Given the description of an element on the screen output the (x, y) to click on. 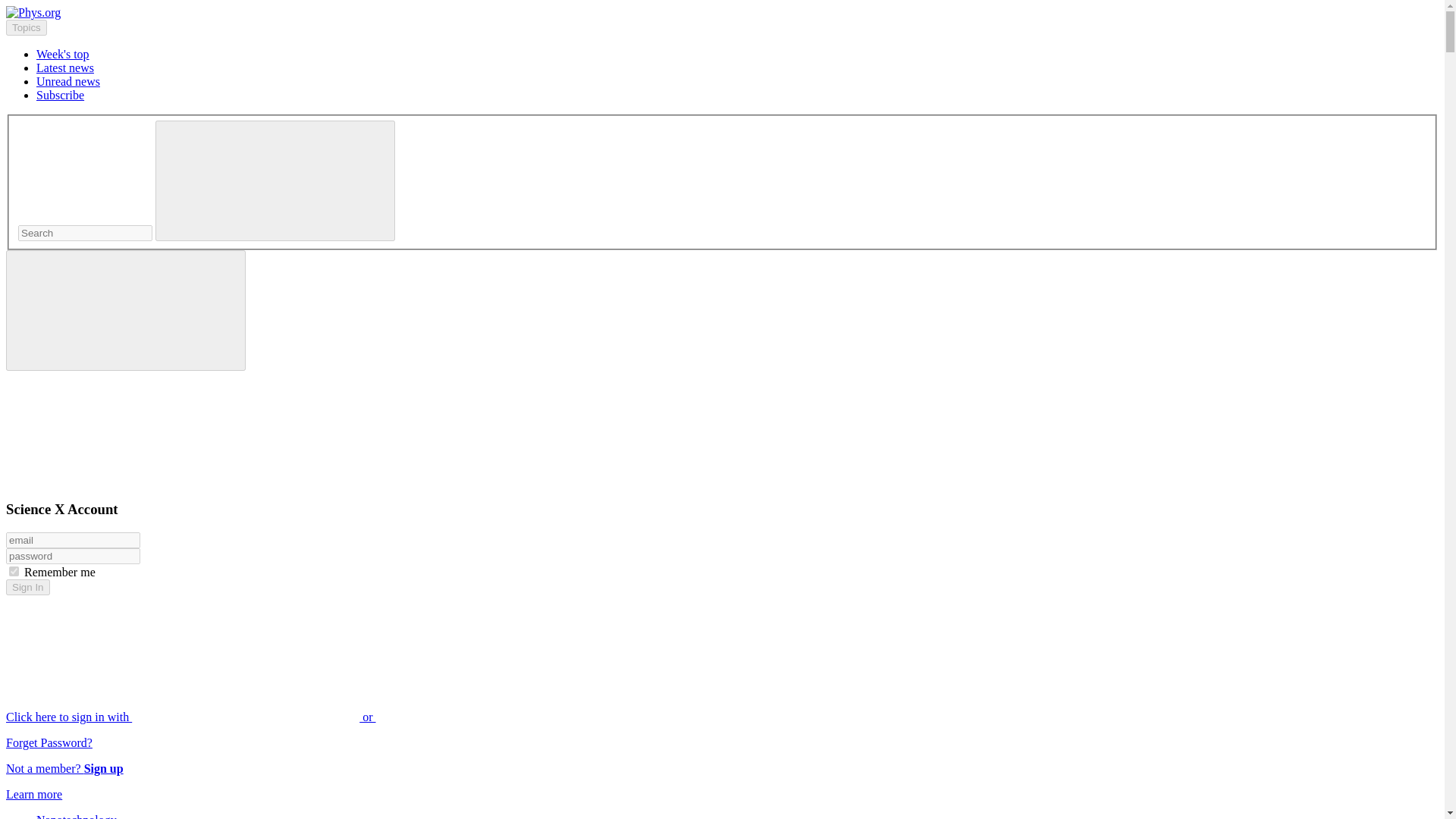
Sign In (27, 587)
Latest news (65, 67)
Unread news (68, 81)
Nanotechnology (76, 816)
Learn more (33, 793)
Forget Password? (49, 742)
on (13, 571)
Week's top (62, 53)
Subscribe (60, 94)
Topics (25, 27)
Click here to sign in with or (304, 716)
Not a member? Sign up (64, 768)
